Given the description of an element on the screen output the (x, y) to click on. 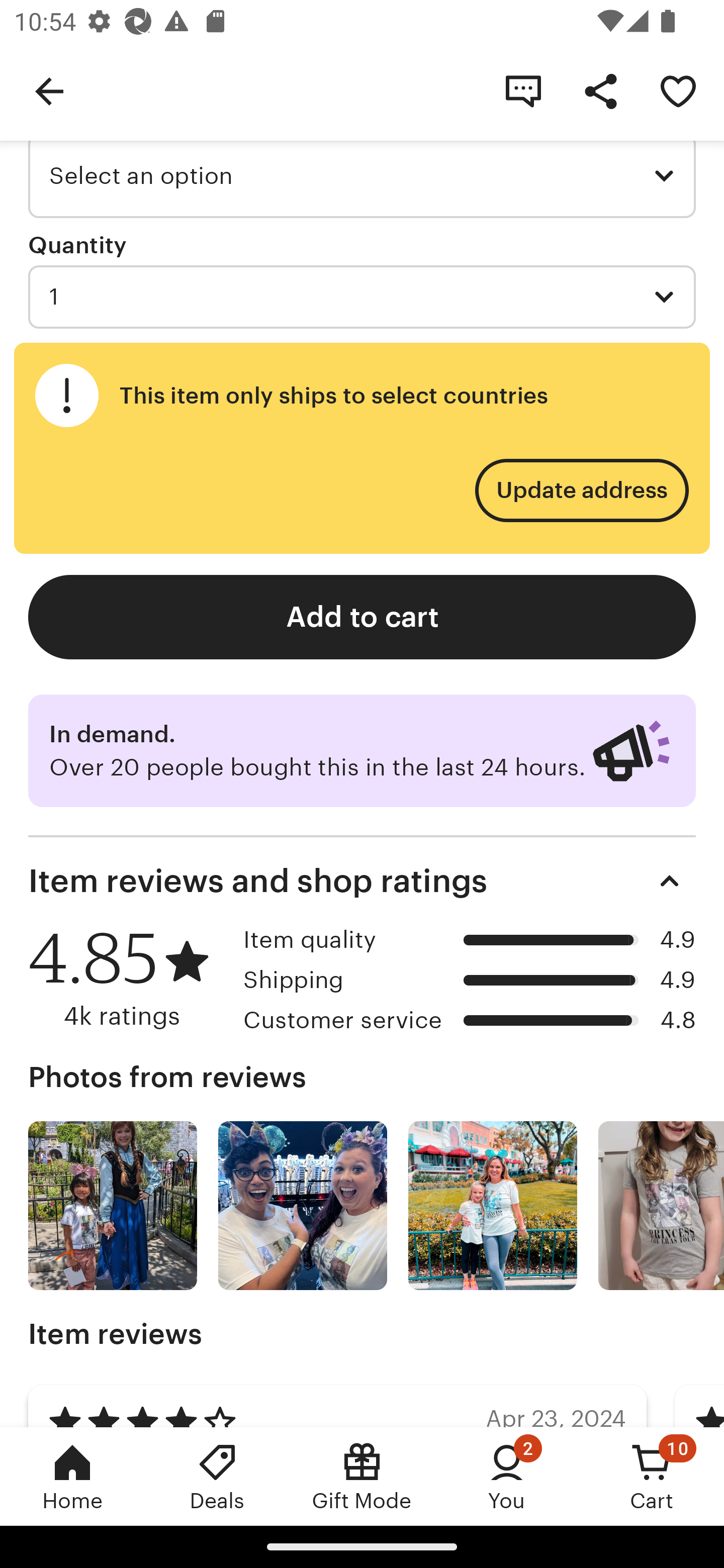
Navigate up (49, 90)
Contact shop (523, 90)
Share (600, 90)
Select an option (361, 175)
Quantity (77, 245)
1 (361, 296)
Update address (581, 490)
Add to cart (361, 617)
Item reviews and shop ratings (362, 880)
4.85 4k ratings (128, 978)
Photo from review (112, 1205)
Photo from review (302, 1205)
Photo from review (492, 1205)
Photo from review (661, 1205)
Deals (216, 1475)
Gift Mode (361, 1475)
You, 2 new notifications You (506, 1475)
Cart, 10 new notifications Cart (651, 1475)
